Given the description of an element on the screen output the (x, y) to click on. 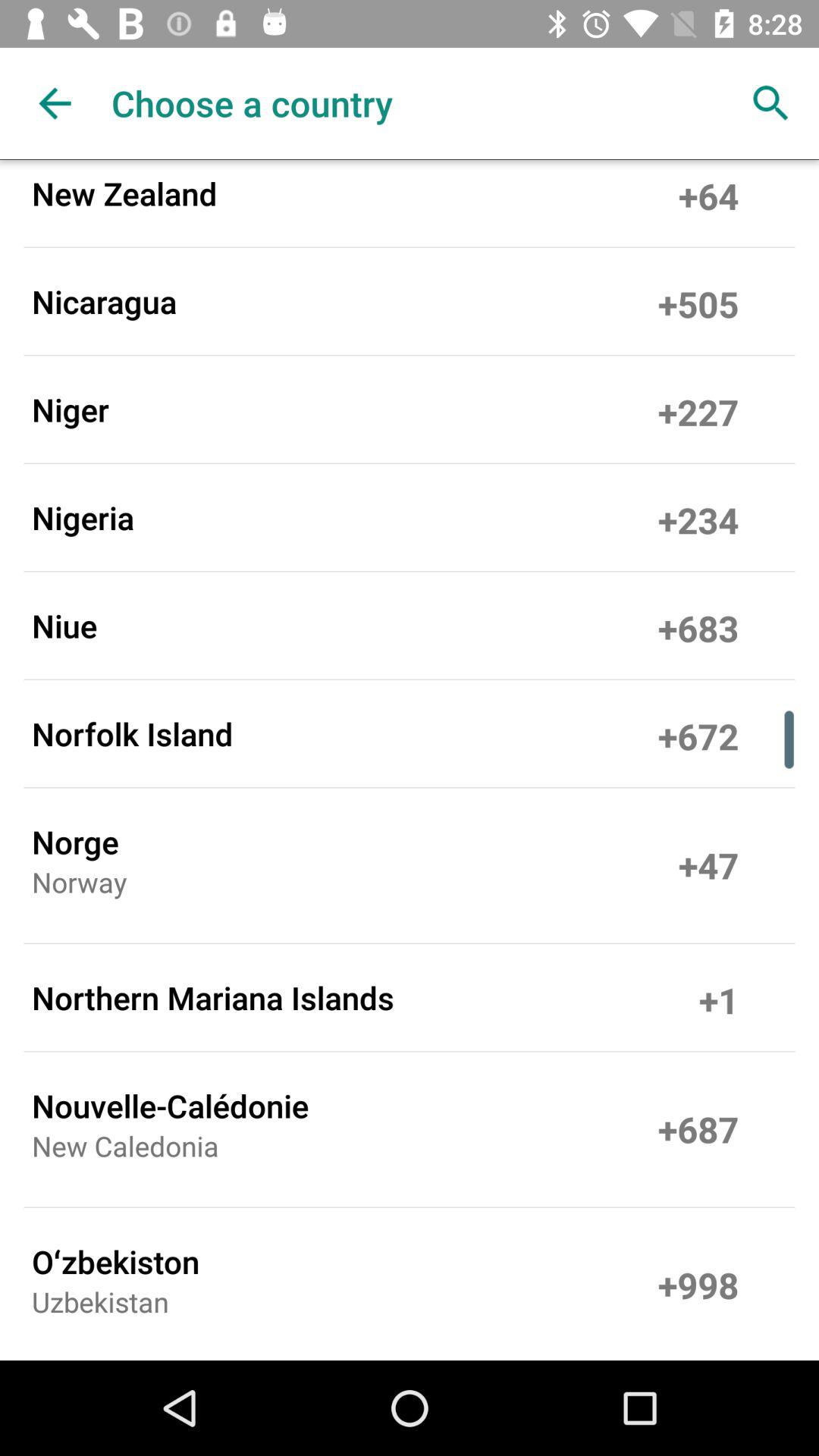
jump until the new caledonia item (124, 1151)
